Given the description of an element on the screen output the (x, y) to click on. 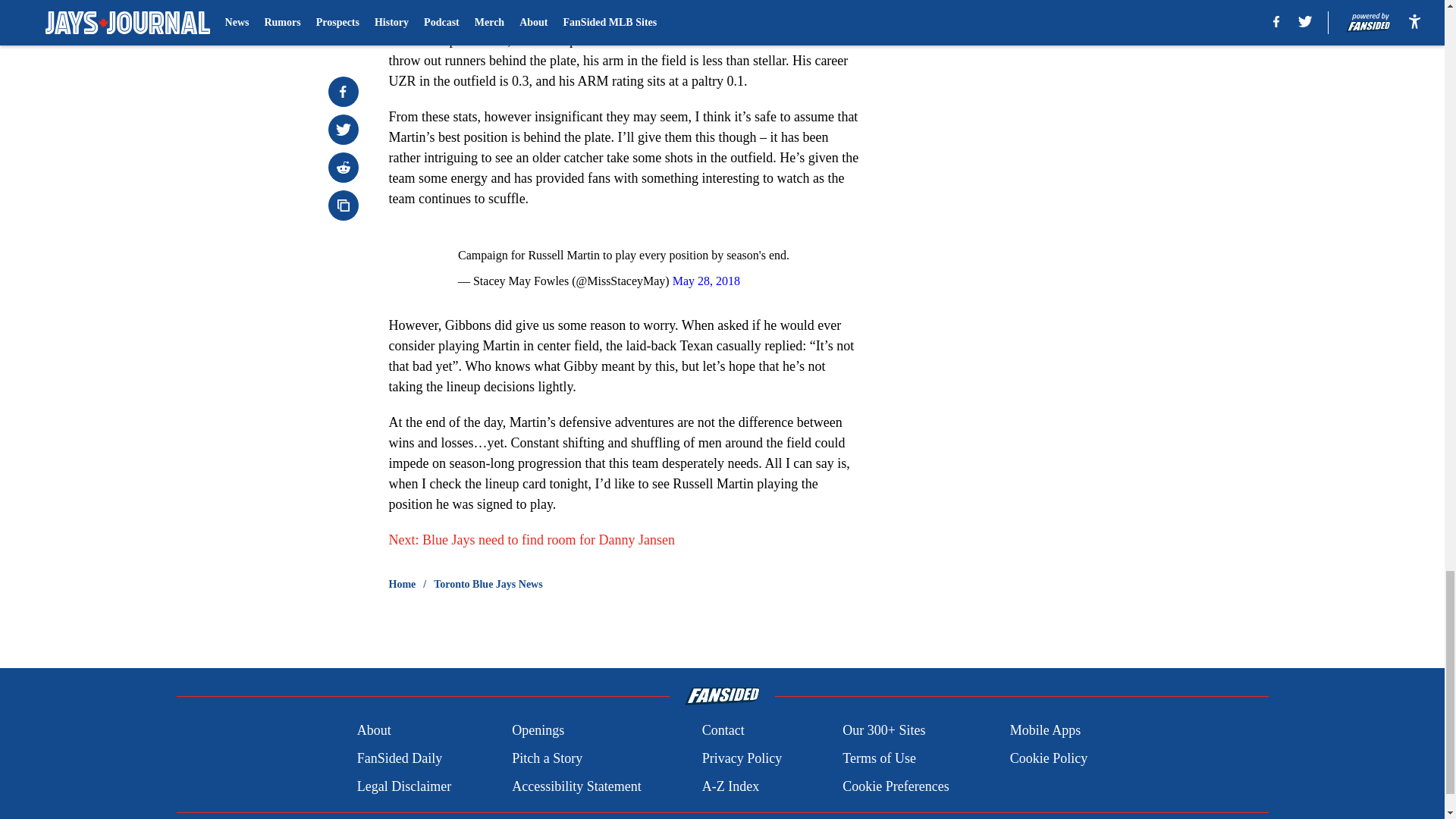
May 28, 2018 (705, 280)
About (373, 730)
Next: Blue Jays need to find room for Danny Jansen (531, 539)
Toronto Blue Jays News (488, 584)
Home (401, 584)
Openings (538, 730)
